Given the description of an element on the screen output the (x, y) to click on. 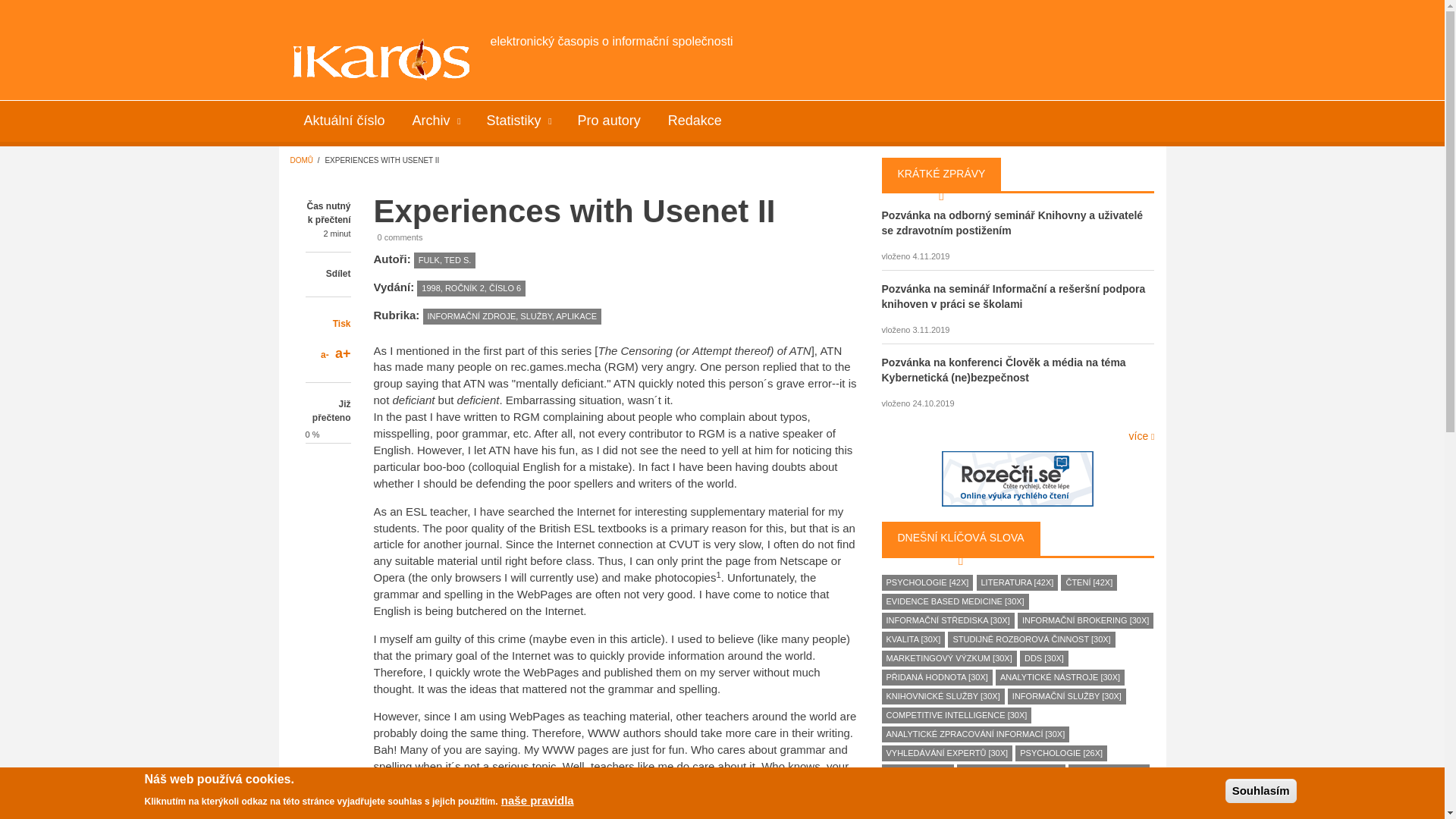
Archiv (435, 118)
Tisk (341, 323)
Pro autory (608, 118)
a- (324, 354)
Redakce (694, 118)
FULK, TED S. (444, 260)
Statistiky (518, 118)
